Given the description of an element on the screen output the (x, y) to click on. 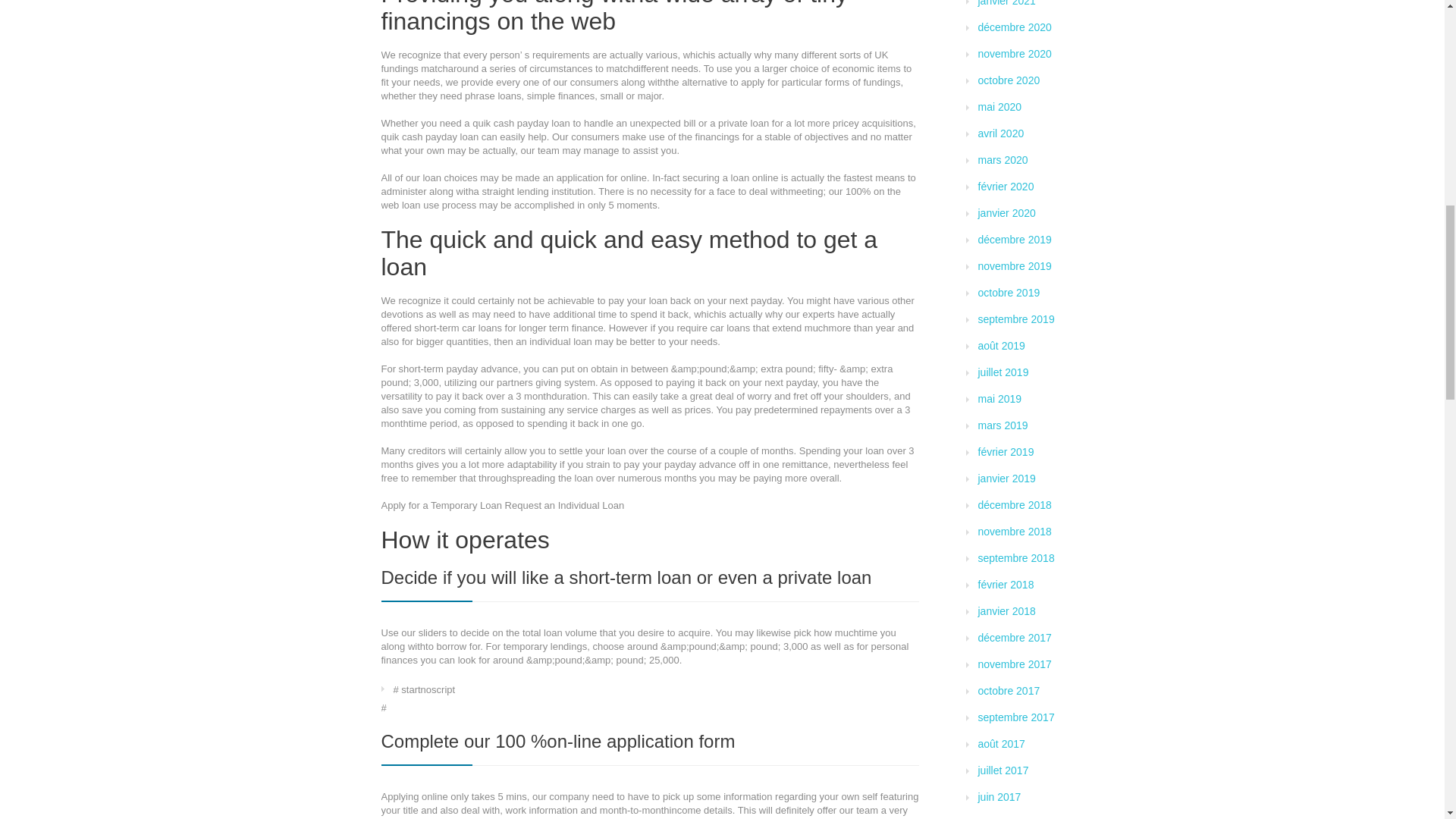
novembre 2020 (1014, 53)
novembre 2019 (1014, 265)
octobre 2020 (1009, 80)
mars 2020 (1002, 159)
octobre 2019 (1009, 292)
avril 2020 (1001, 133)
septembre 2019 (1016, 318)
mai 2020 (1000, 106)
janvier 2020 (1006, 213)
janvier 2021 (1006, 3)
